Given the description of an element on the screen output the (x, y) to click on. 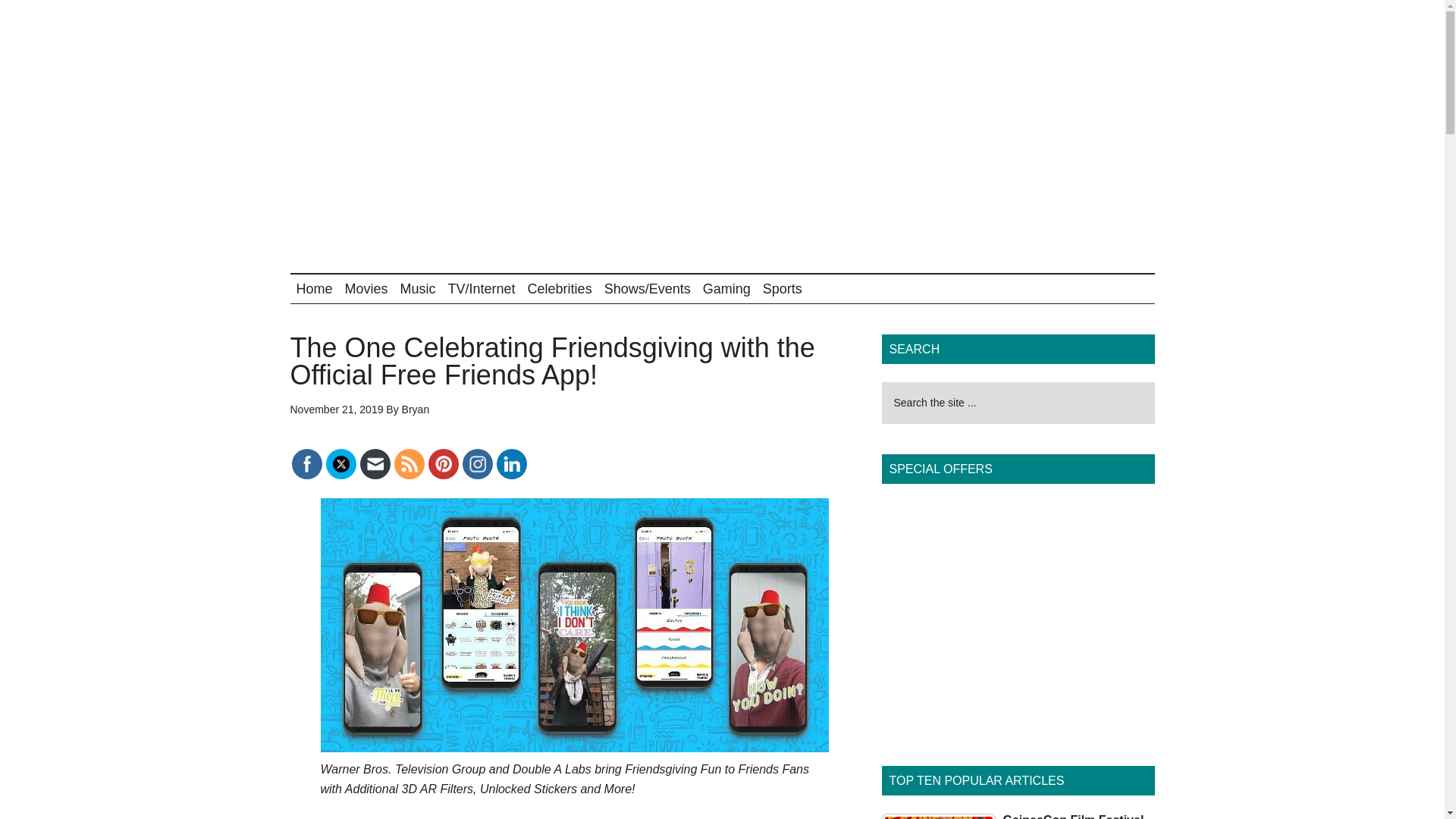
Advertisement (878, 136)
MovieDebuts.com (433, 64)
Music (418, 288)
Bryan (415, 409)
Home (313, 288)
Celebrities (559, 288)
Gaming (727, 288)
Sports (782, 288)
Movies (366, 288)
